Given the description of an element on the screen output the (x, y) to click on. 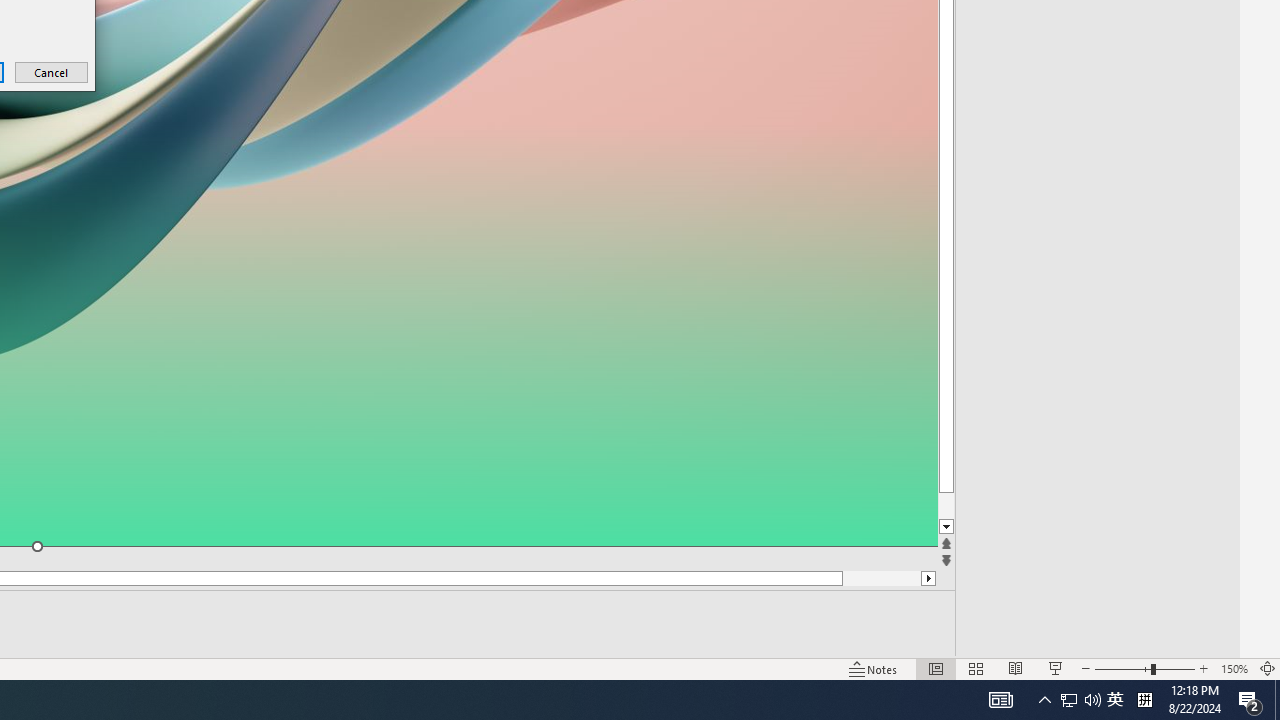
AutomationID: 4105 (1000, 699)
Notification Chevron (1044, 699)
Q2790: 100% (1115, 699)
Show desktop (1092, 699)
Page down (1069, 699)
Action Center, 2 new notifications (1277, 699)
